Given the description of an element on the screen output the (x, y) to click on. 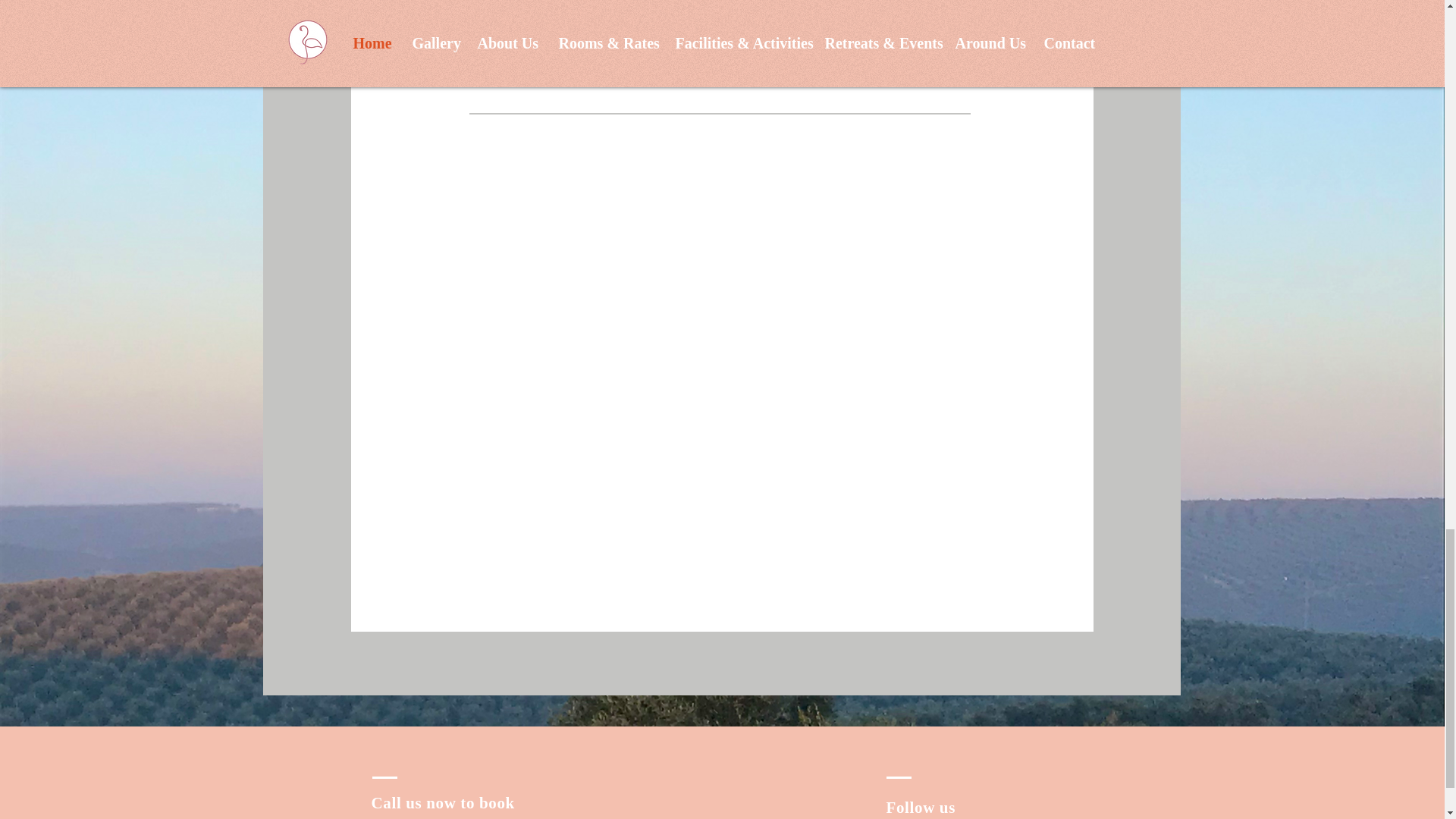
Google Maps (719, 40)
